Given the description of an element on the screen output the (x, y) to click on. 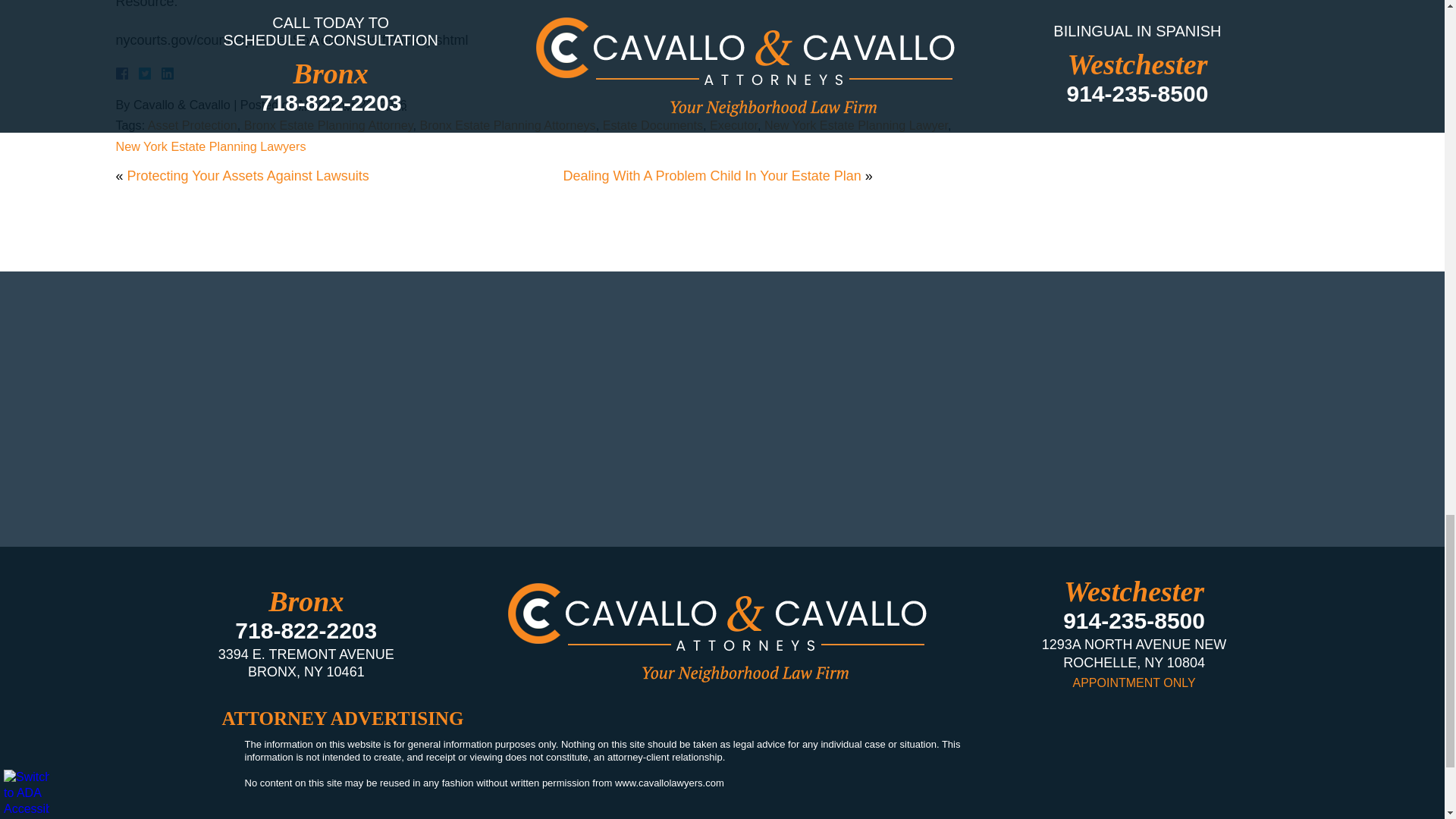
Twitter (149, 73)
Bronx Estate Planning Attorney (328, 124)
Asset Protection (192, 124)
Facebook (139, 73)
Bronx Estate Planning Attorneys (507, 124)
LinkedIn (160, 73)
2016-11-22T09:34:10-0800 (352, 104)
